Given the description of an element on the screen output the (x, y) to click on. 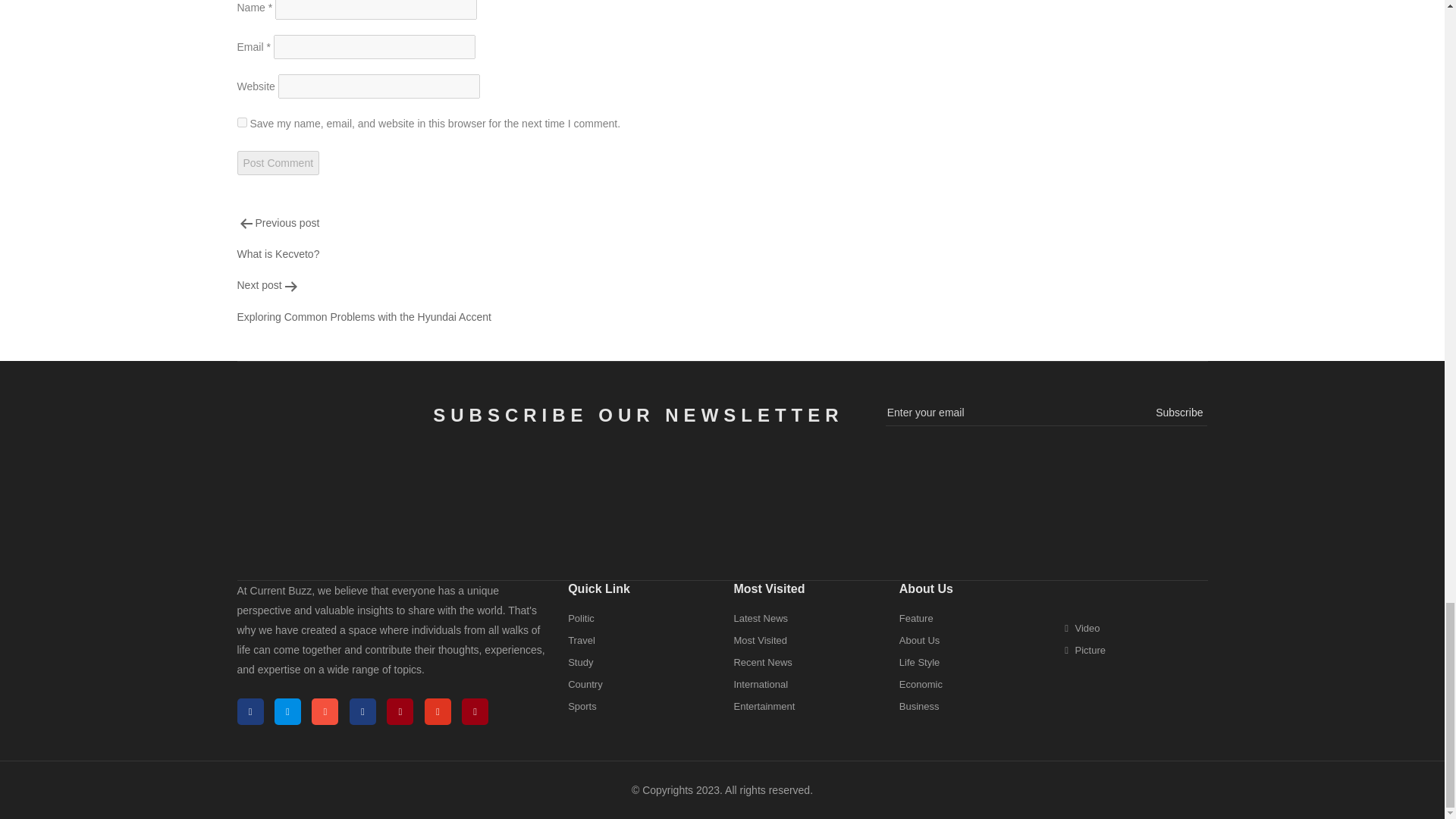
Post Comment (276, 162)
Post Comment (555, 237)
yes (276, 162)
